Given the description of an element on the screen output the (x, y) to click on. 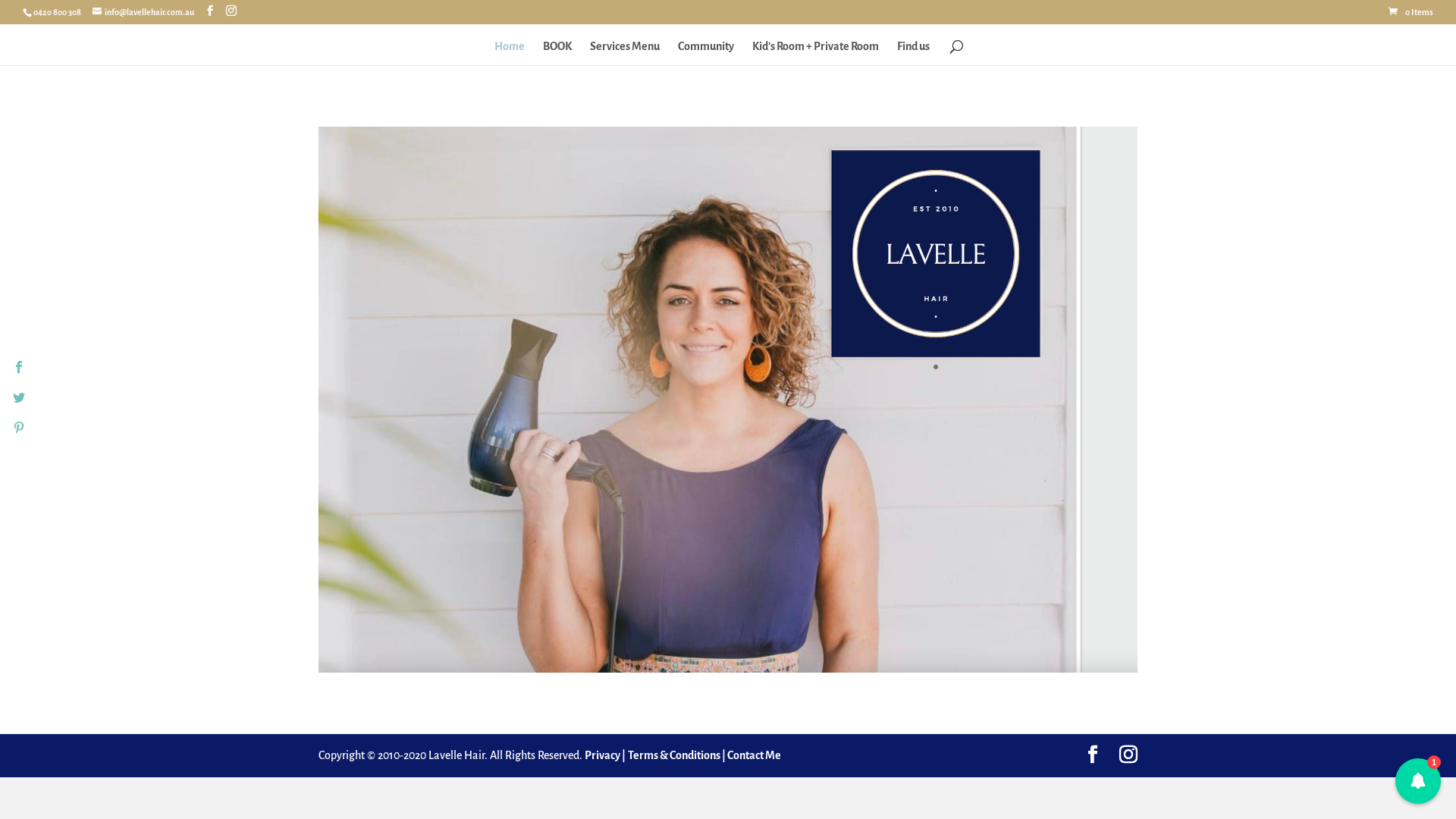
Community Element type: text (705, 52)
Find us Element type: text (913, 52)
Services Menu Element type: text (624, 52)
Home Element type: text (509, 52)
Screen Shot 2023-01-11 at 2.51.38 pm Element type: hover (727, 399)
Contact Me Element type: text (753, 755)
Privacy | Element type: text (604, 755)
Terms & Conditions | Element type: text (676, 755)
info@lavellehair.com.au Element type: text (143, 11)
BOOK Element type: text (556, 52)
0 Items Element type: text (1410, 11)
